Given the description of an element on the screen output the (x, y) to click on. 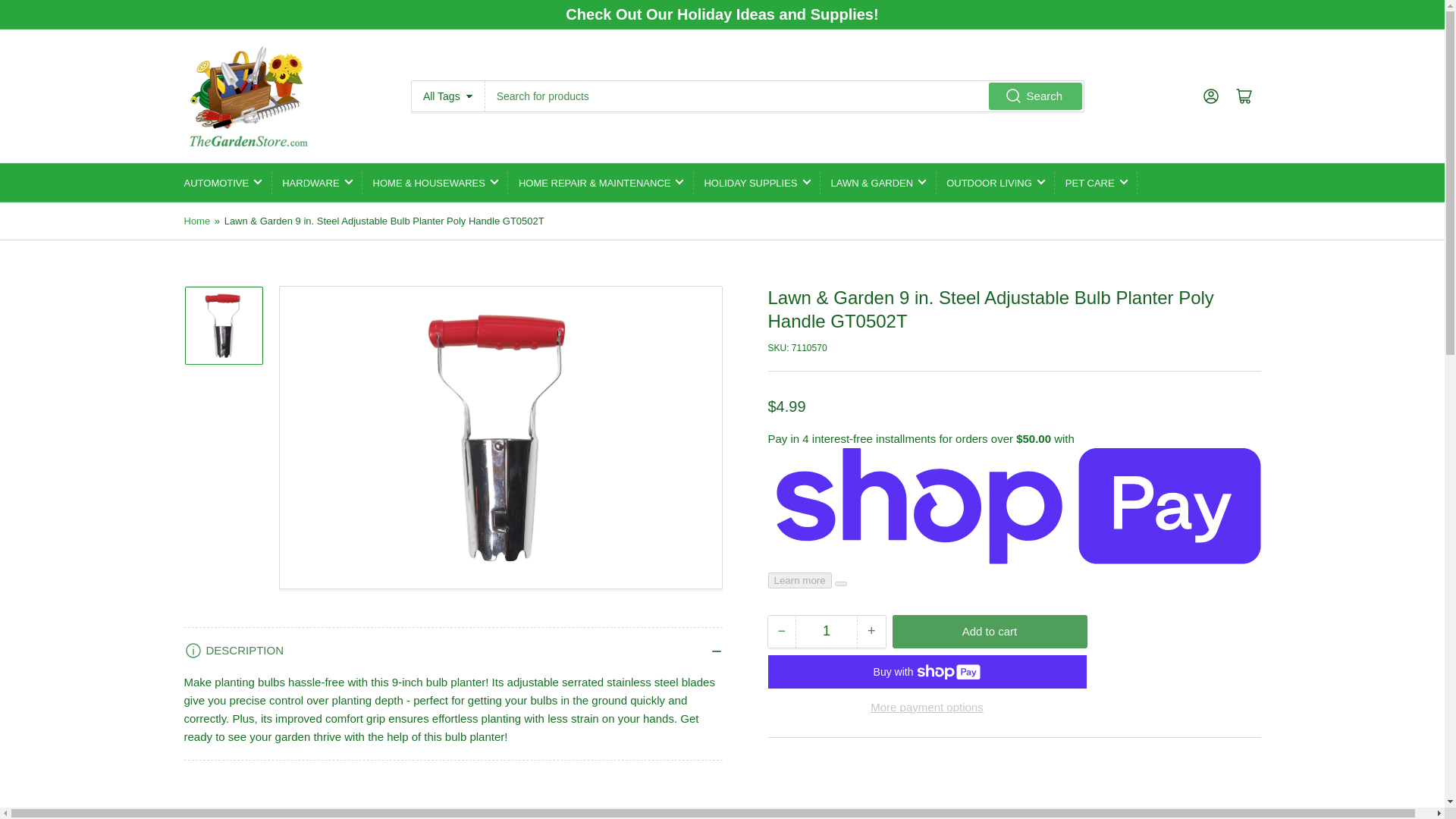
Search (1035, 95)
Log in (1210, 96)
1 (825, 631)
Open mini cart (1243, 96)
Check Out Our Holiday Ideas and Supplies! (721, 13)
